Given the description of an element on the screen output the (x, y) to click on. 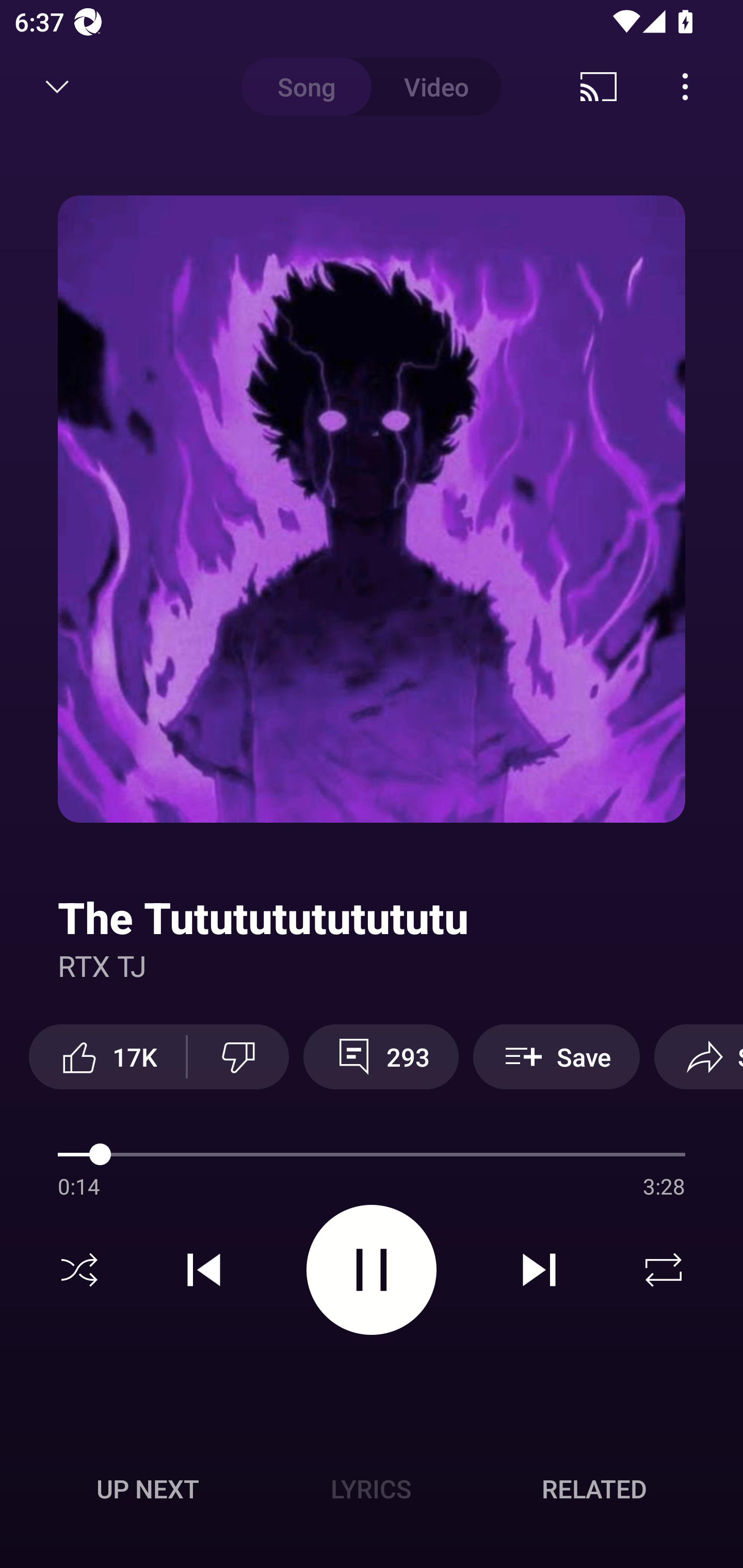
Minimize (57, 86)
Cast. Disconnected (598, 86)
Menu (684, 86)
17K like this video along with 17,364 other people (106, 1056)
Dislike (238, 1056)
293 View 293 comments (380, 1056)
Save Save to playlist (556, 1056)
Share (698, 1056)
Pause video (371, 1269)
Shuffle off (79, 1269)
Previous track (203, 1269)
Next track (538, 1269)
Repeat off (663, 1269)
Up next UP NEXT Lyrics LYRICS Related RELATED (371, 1491)
Lyrics LYRICS (370, 1488)
Related RELATED (594, 1488)
